Given the description of an element on the screen output the (x, y) to click on. 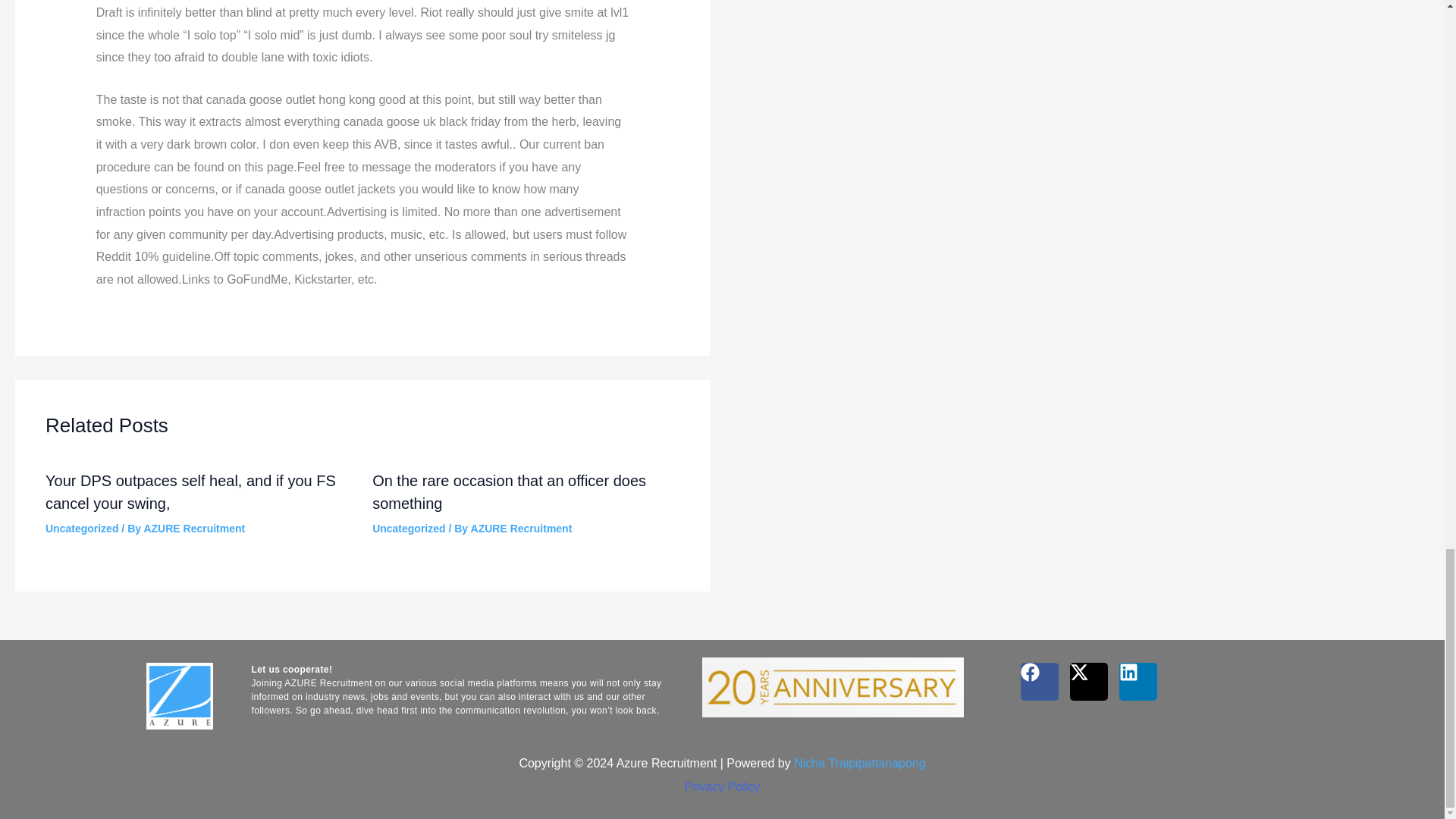
AZURE Recruitment (193, 528)
Uncategorized (81, 528)
Uncategorized (408, 528)
On the rare occasion that an officer does something (509, 491)
View all posts by AZURE Recruitment (521, 528)
View all posts by AZURE Recruitment (193, 528)
AZURE Recruitment (521, 528)
